Given the description of an element on the screen output the (x, y) to click on. 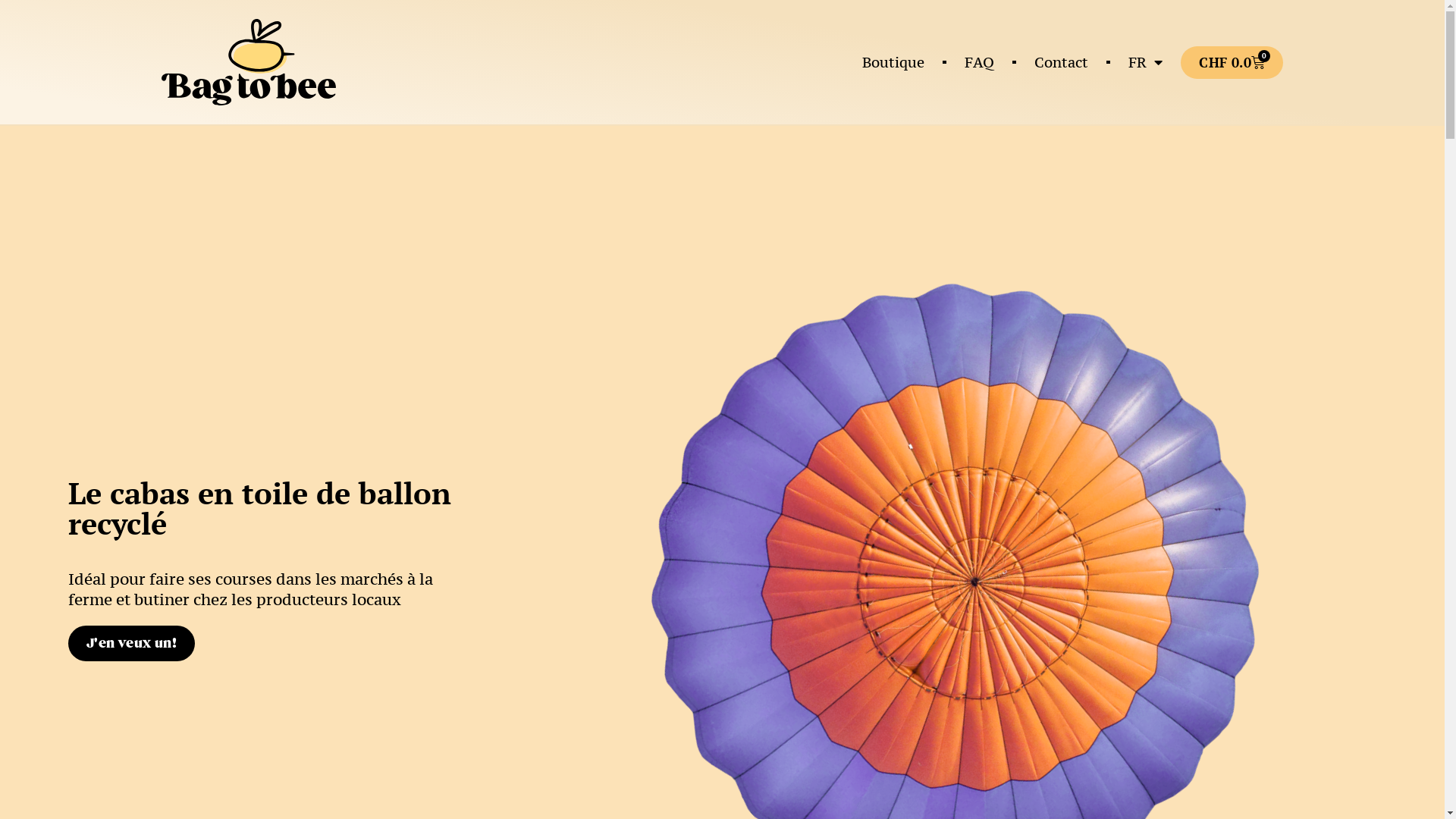
J'en veux un! Element type: text (131, 643)
FR Element type: text (1145, 61)
CHF 0.0
0 Element type: text (1231, 61)
Boutique Element type: text (893, 61)
FAQ Element type: text (979, 61)
Contact Element type: text (1061, 61)
